Given the description of an element on the screen output the (x, y) to click on. 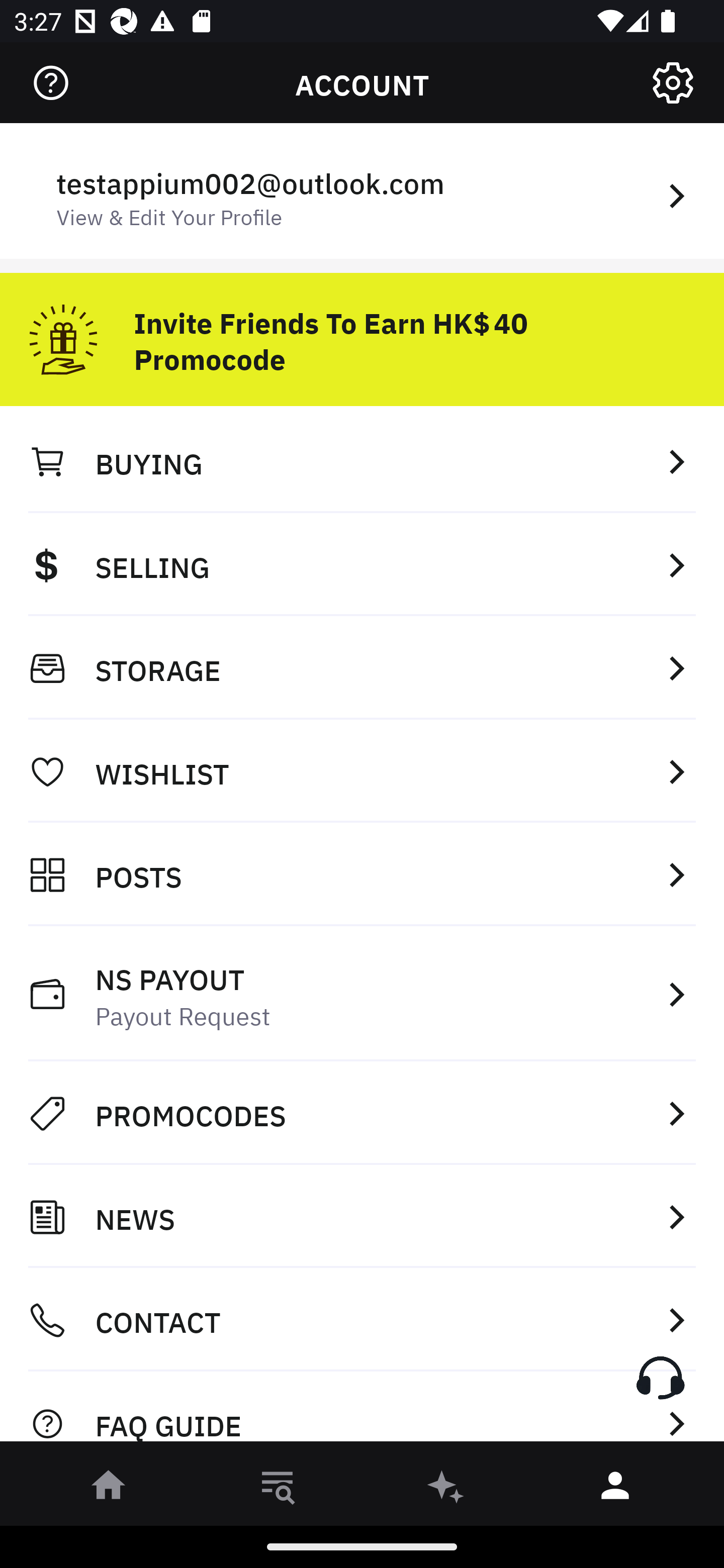
 (50, 83)
 (672, 83)
Invite Friends To Earn HK$ 40 Promocode (362, 332)
 BUYING  (361, 460)
 SELLING  (361, 564)
 STORAGE  (361, 667)
 WISHLIST  (361, 771)
 POSTS  (361, 874)
 0 NS PAYOUT Payout Request  (361, 993)
 PROMOCODES  (361, 1113)
 NEWS  (361, 1216)
 CONTACT  (361, 1320)
 FAQ GUIDE  (361, 1411)
󰋜 (108, 1488)
󱎸 (277, 1488)
󰫢 (446, 1488)
󰀄 (615, 1488)
